Given the description of an element on the screen output the (x, y) to click on. 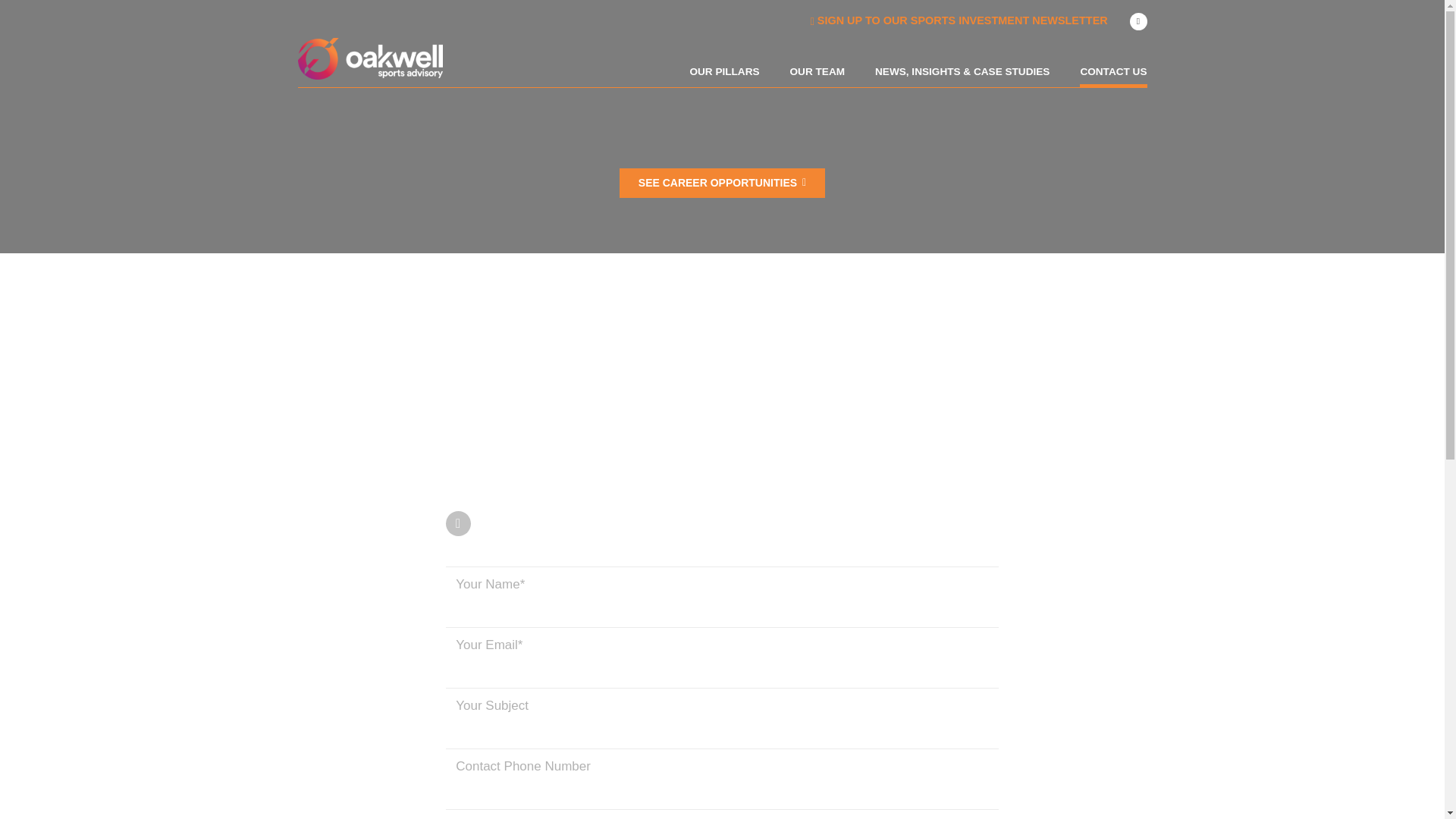
SEE CAREER OPPORTUNITIES (722, 183)
OUR PILLARS (724, 77)
CONTACT US (1112, 77)
SIGN UP TO OUR SPORTS INVESTMENT NEWSLETTER (957, 20)
2021 (722, 183)
OUR TEAM (817, 77)
